Given the description of an element on the screen output the (x, y) to click on. 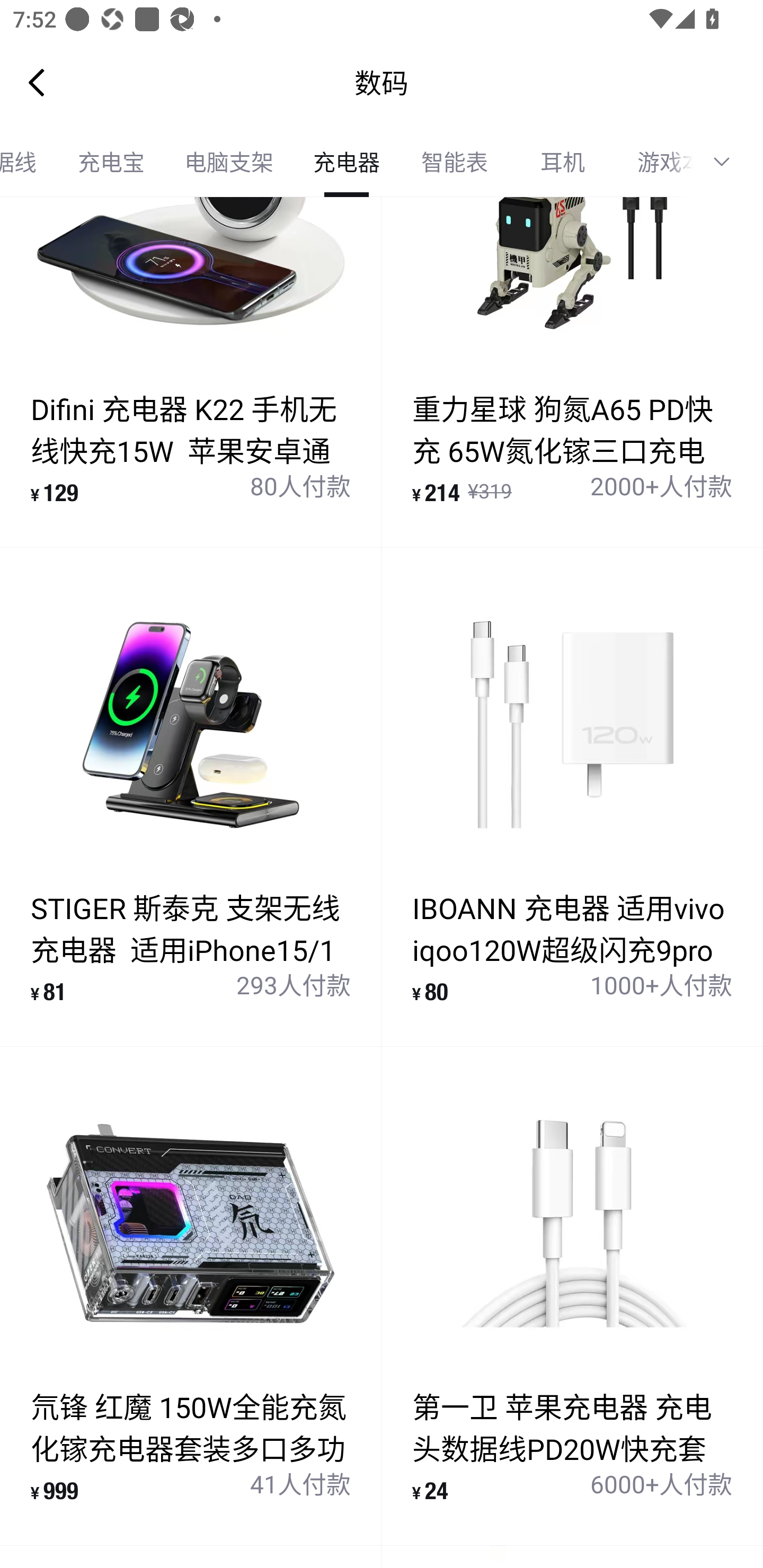
Navigate up (36, 82)
充电宝 (111, 162)
电脑支架 (228, 162)
充电器 (346, 162)
智能表 (454, 162)
耳机 (562, 162)
 (727, 162)
